Given the description of an element on the screen output the (x, y) to click on. 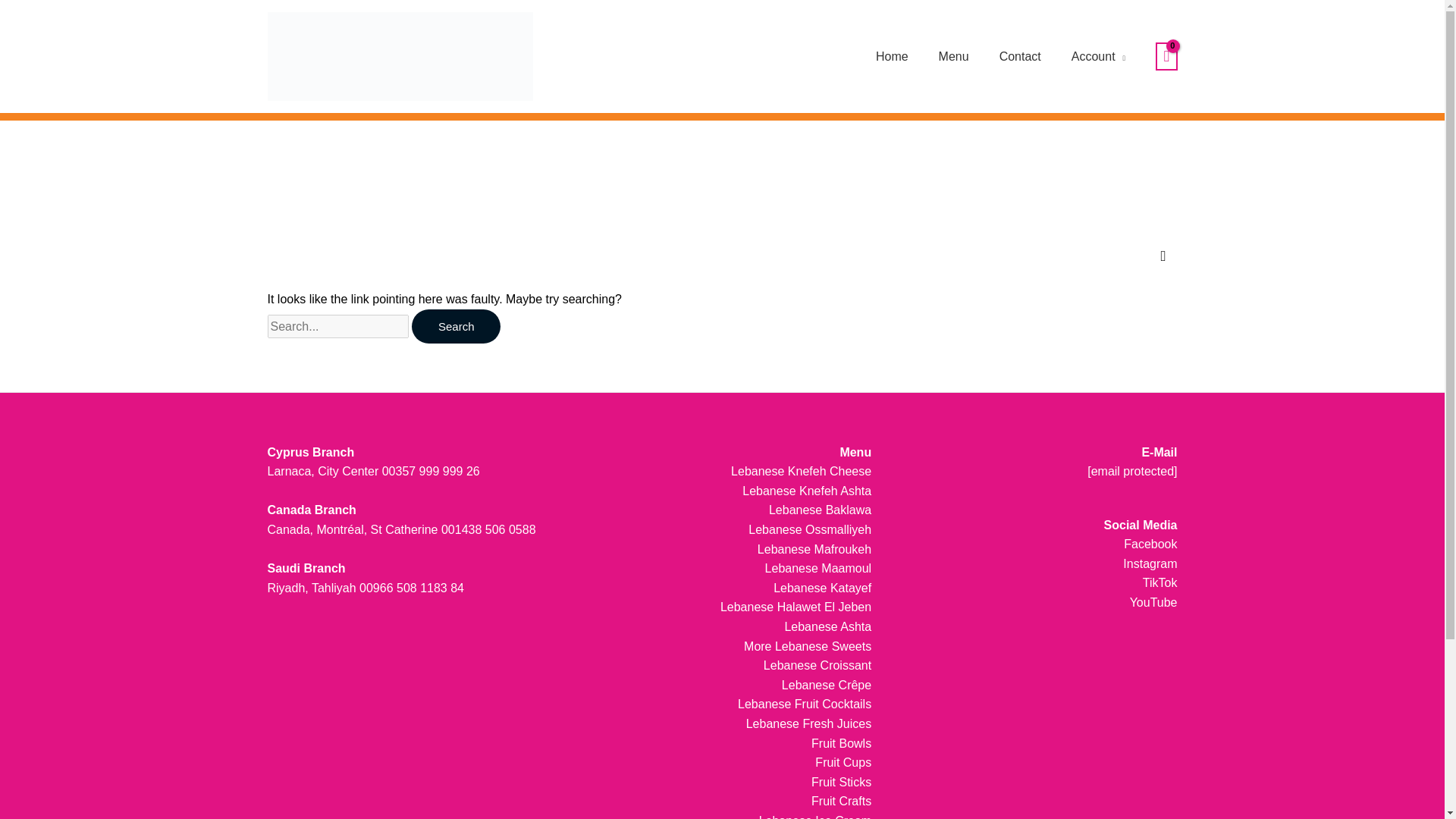
Contact (1020, 56)
Lebanese Mafroukeh (813, 549)
Lebanese Fresh Juices (807, 723)
Lebanese Croissant (816, 665)
Menu (953, 56)
Search (456, 326)
Fruit Bowls (840, 743)
Home (891, 56)
Search (456, 326)
Lebanese Maamoul (818, 567)
Lebanese Baklawa (819, 509)
Fruit Crafts (840, 800)
Lebanese Ashta (827, 626)
Lebanese Katayef (821, 587)
Fruit Cups (842, 762)
